Given the description of an element on the screen output the (x, y) to click on. 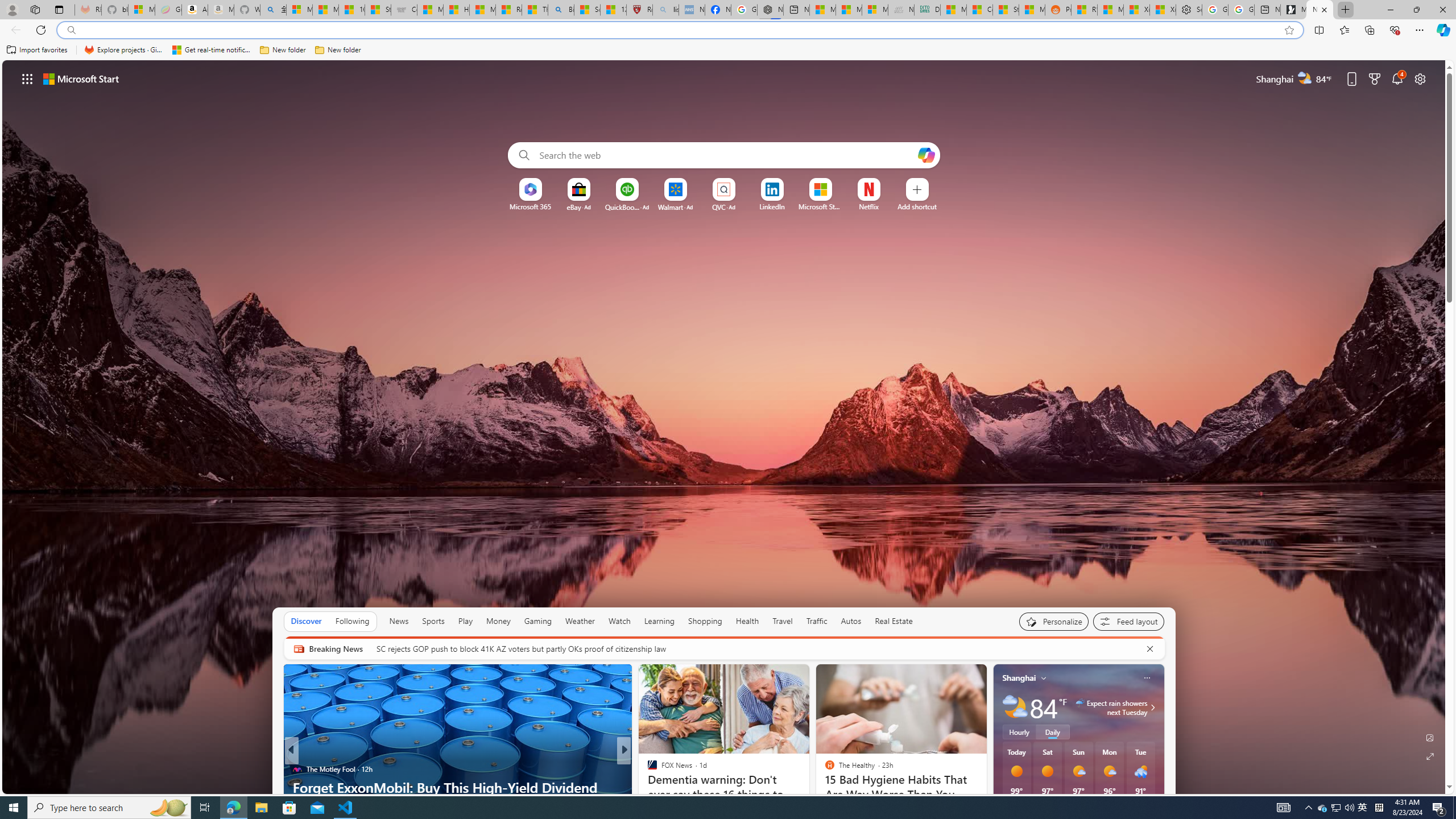
How Long Does Better Than Bouillon Last Once Opened? (807, 796)
AutomationID: backgroundImagePicture (723, 426)
